Given the description of an element on the screen output the (x, y) to click on. 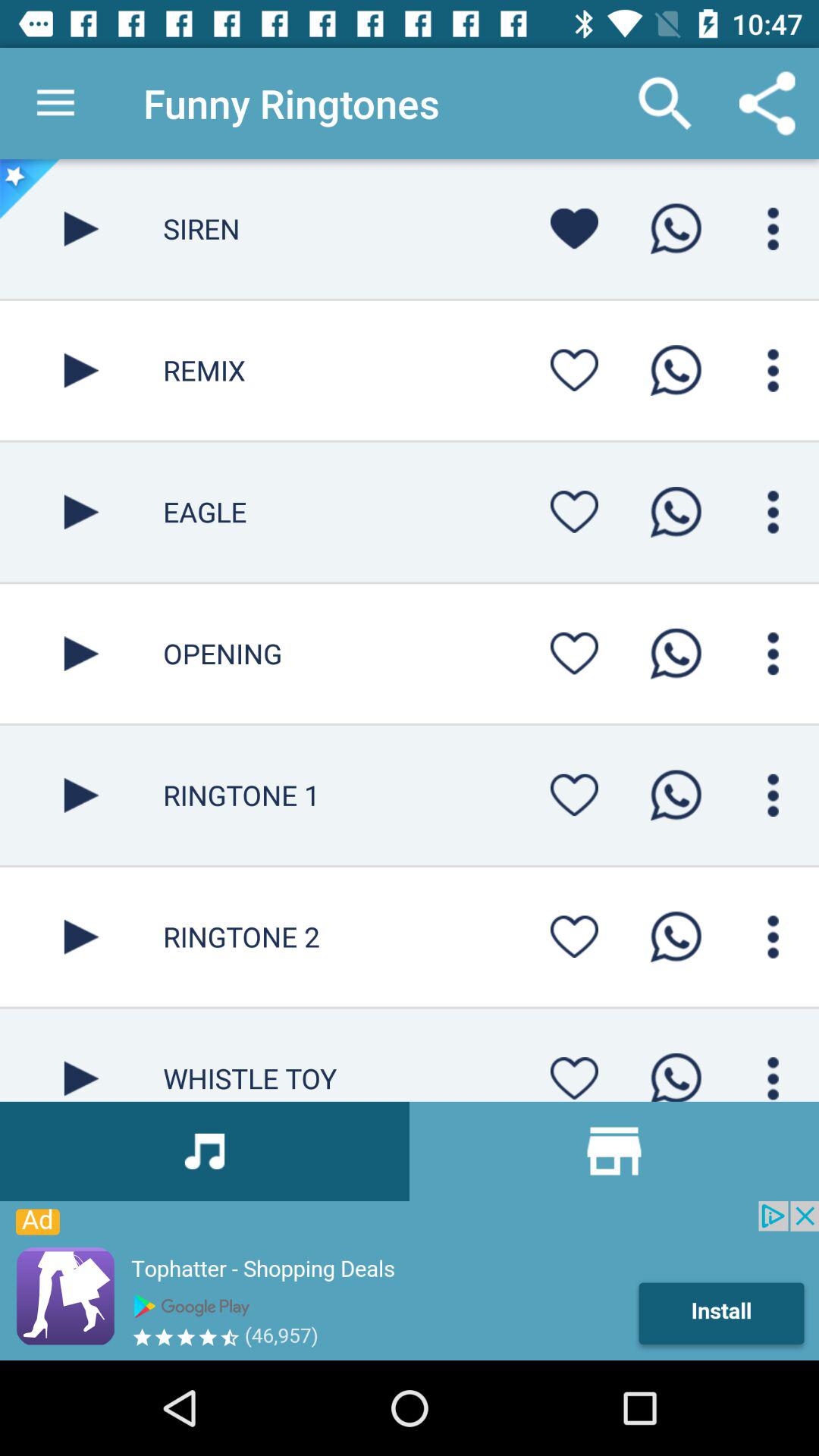
heart ringtone2 ringtone (574, 936)
